Given the description of an element on the screen output the (x, y) to click on. 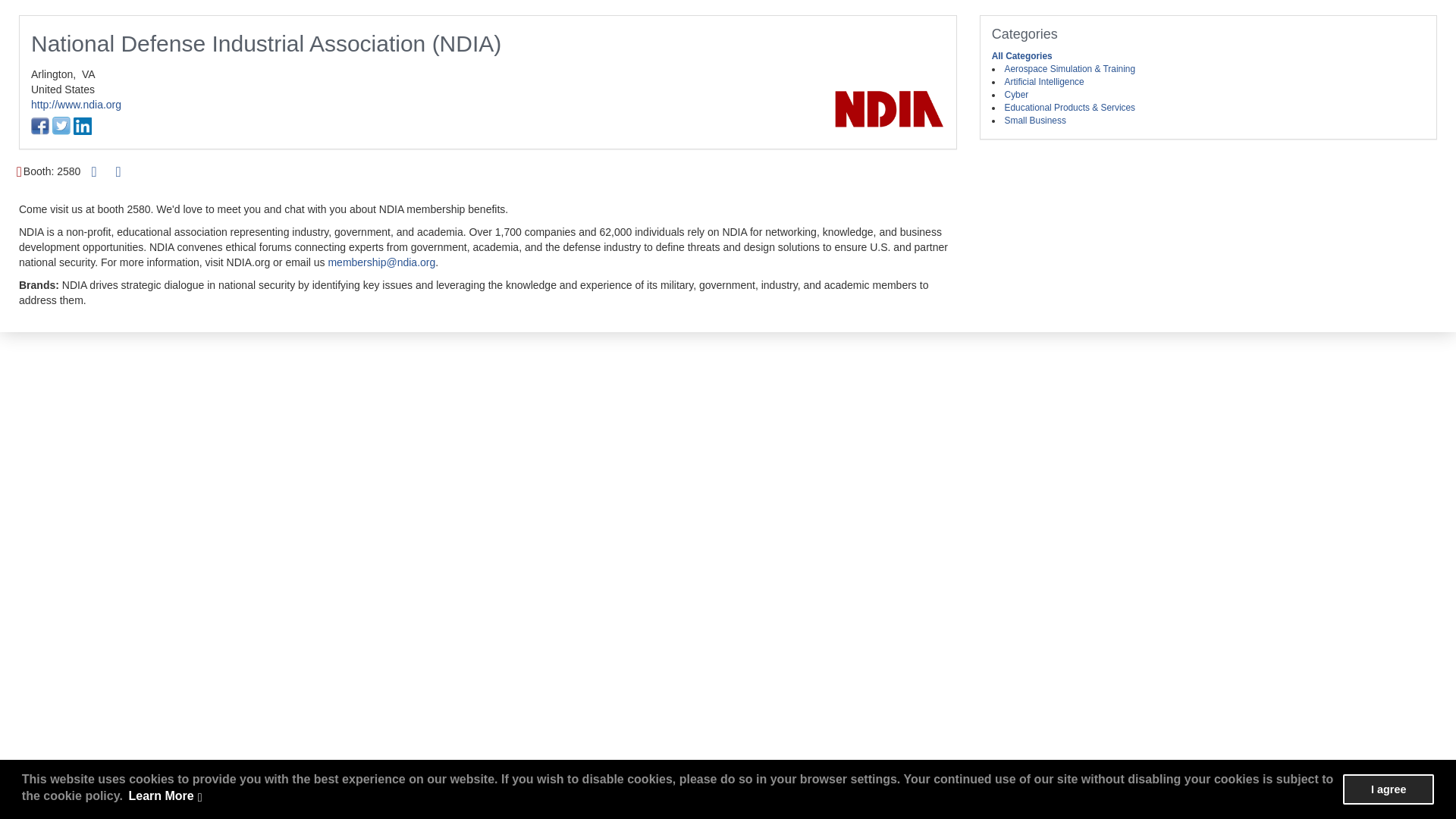
All Categories (1021, 55)
Add To My Exhibitors (118, 172)
Artificial Intelligence (1044, 81)
Cyber (1016, 94)
Print (93, 171)
Small Business (1034, 120)
